Given the description of an element on the screen output the (x, y) to click on. 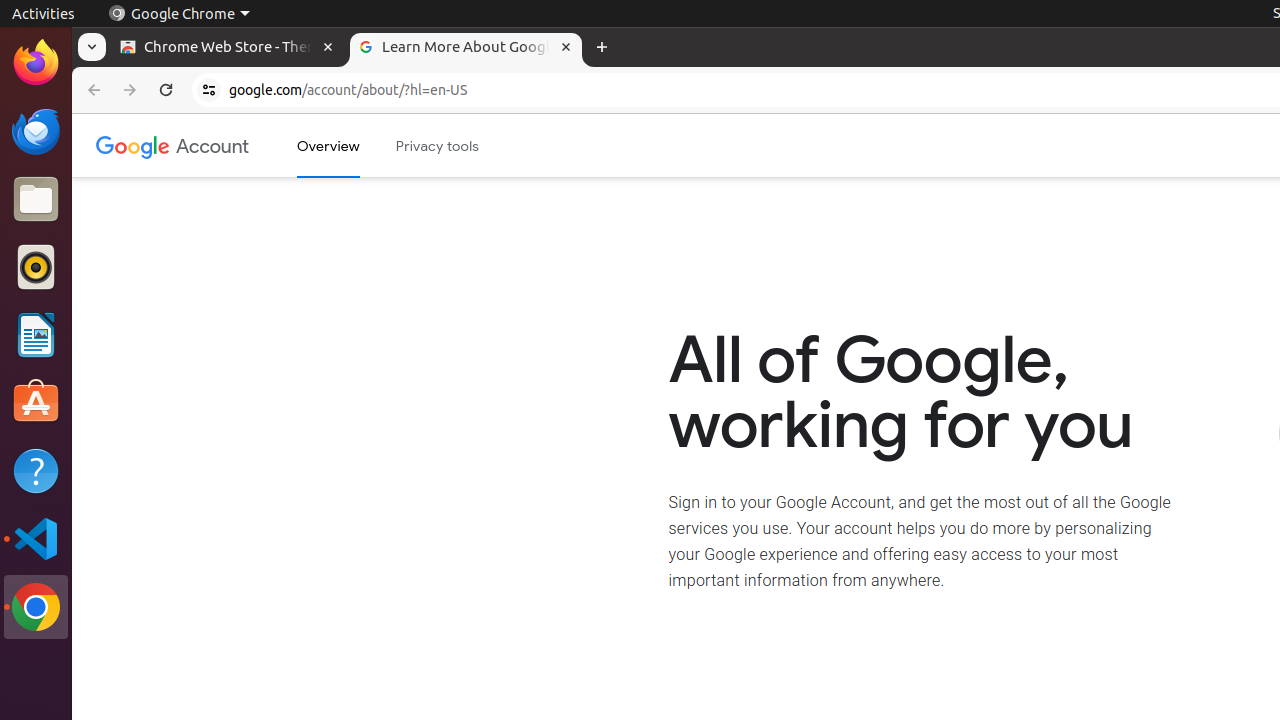
Google Account Element type: link (213, 146)
New Tab Element type: push-button (602, 47)
Forward Element type: push-button (130, 90)
Google Chrome Element type: menu (179, 13)
